Given the description of an element on the screen output the (x, y) to click on. 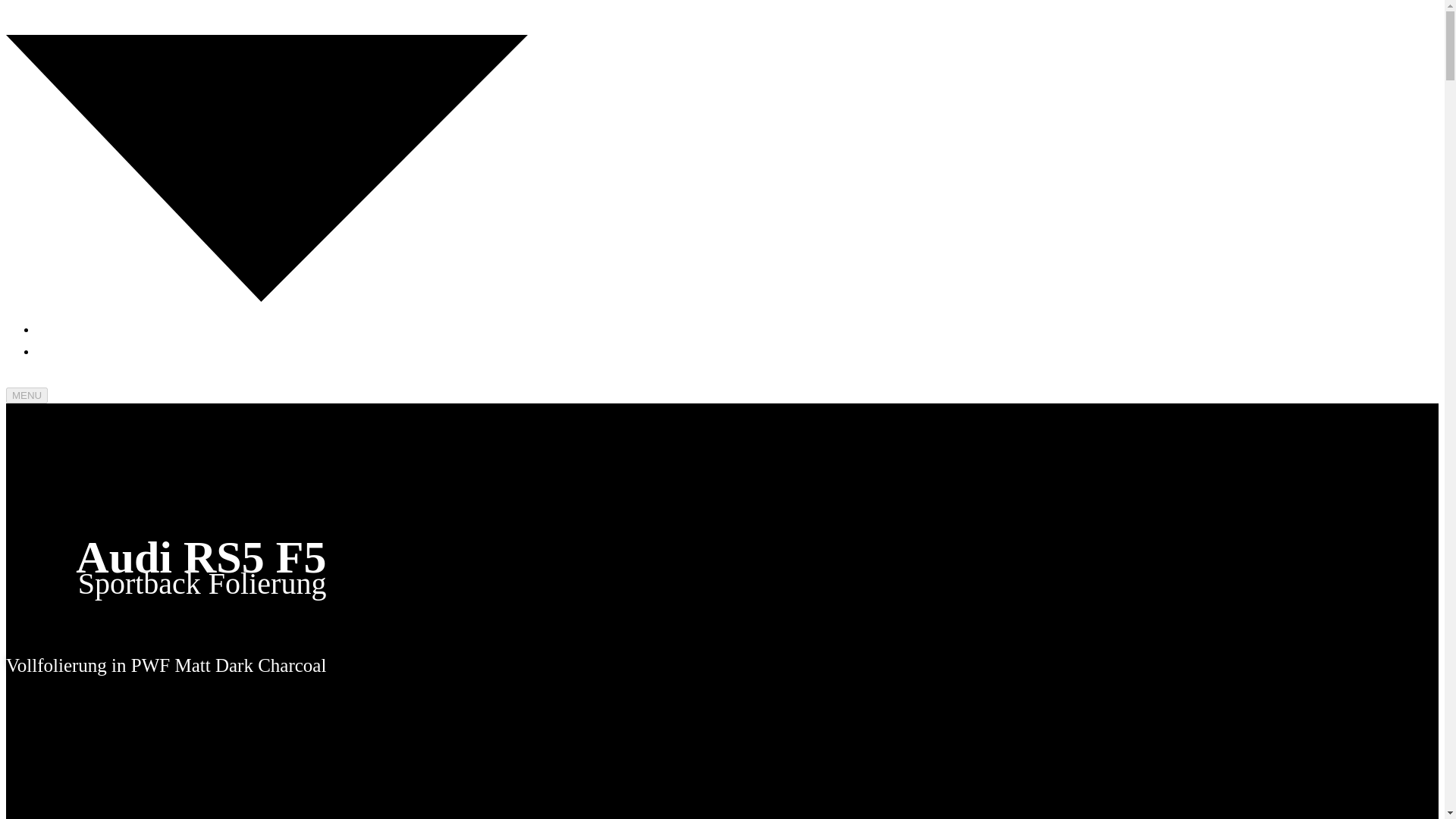
0 (16, 18)
0 (47, 328)
MENU (26, 395)
